Given the description of an element on the screen output the (x, y) to click on. 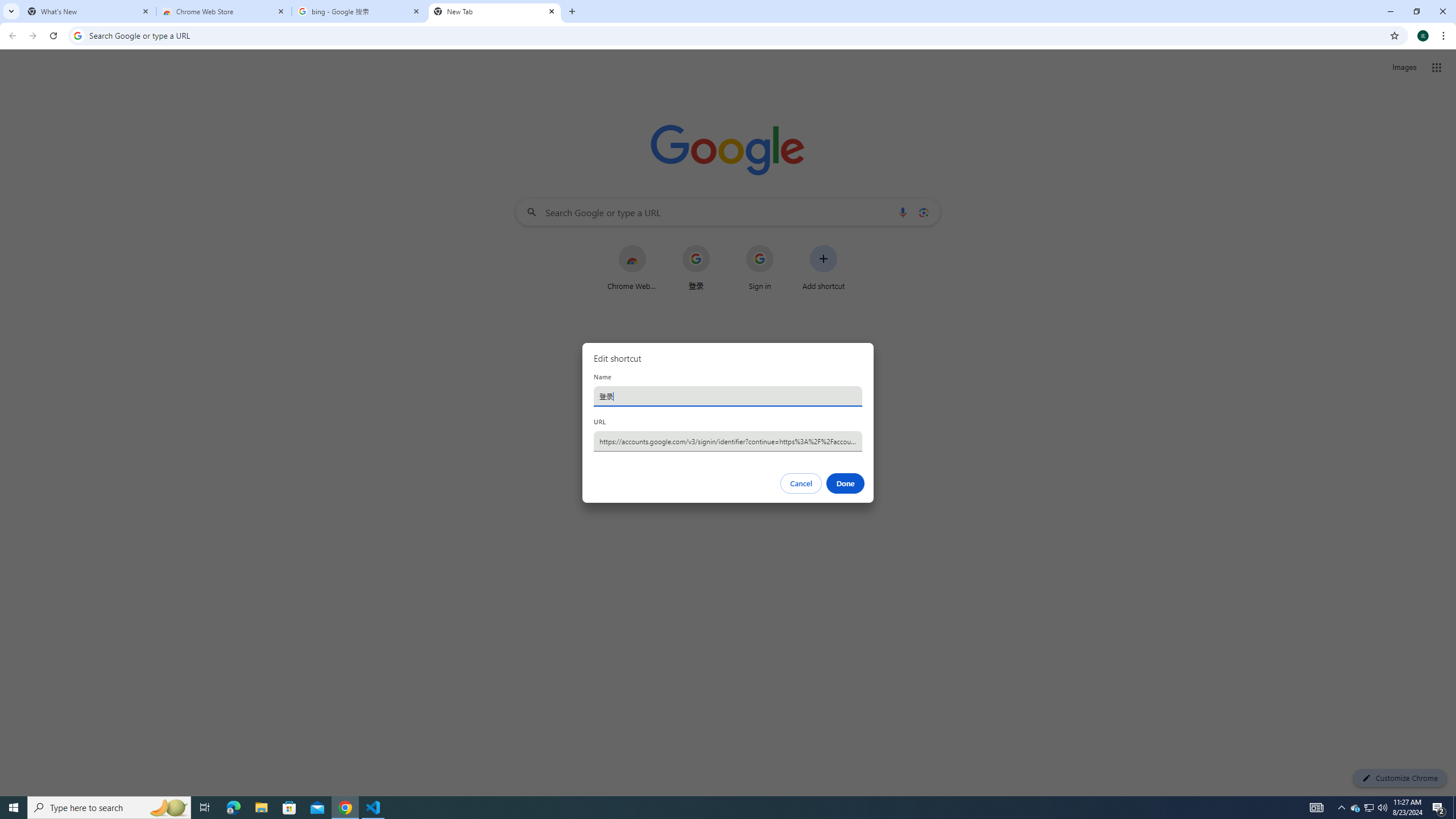
Chrome Web Store (224, 11)
Name (727, 396)
New Tab (494, 11)
URL (727, 440)
Done (845, 483)
